Given the description of an element on the screen output the (x, y) to click on. 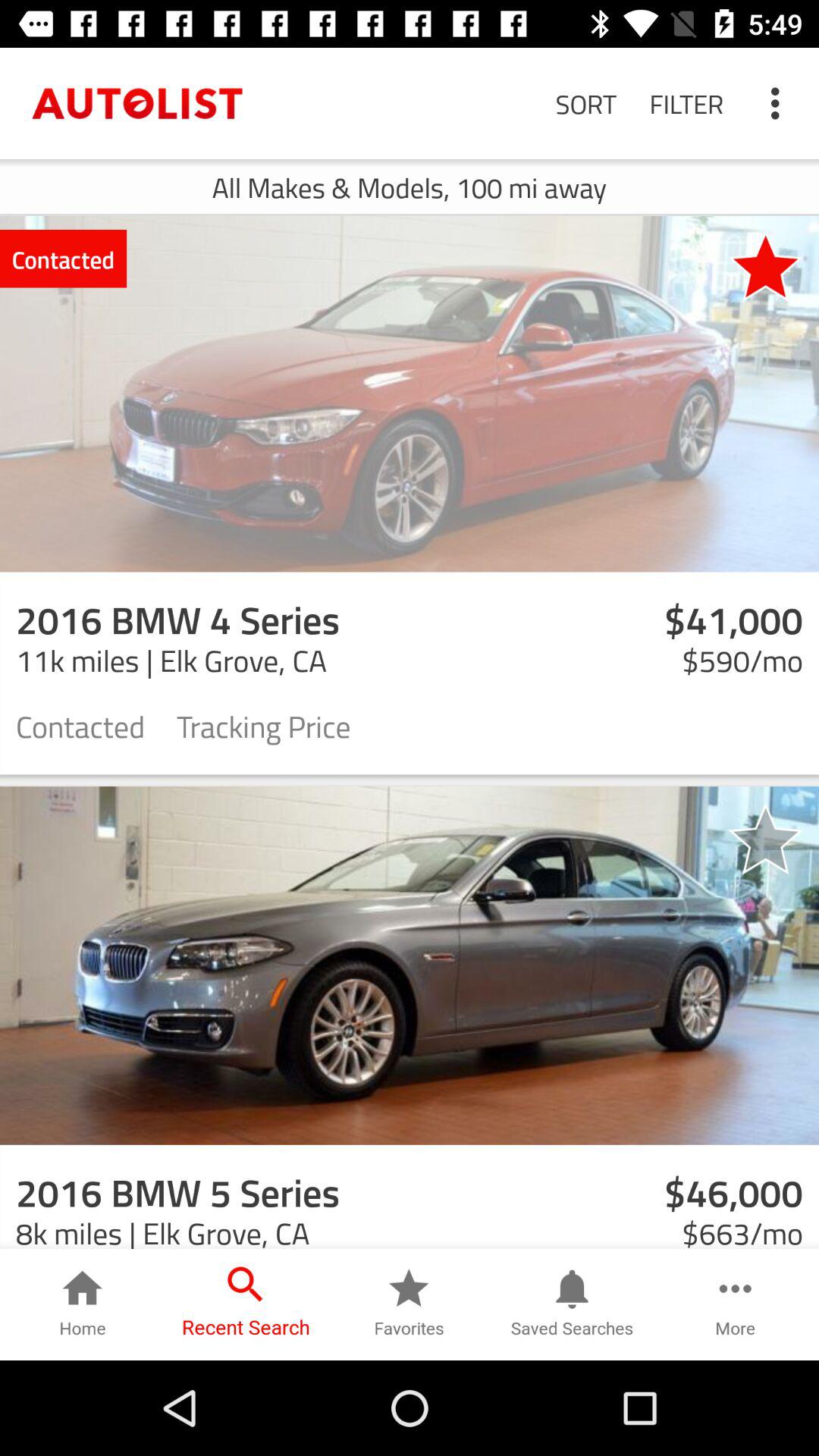
open item to the left of $590/mo item (263, 725)
